Given the description of an element on the screen output the (x, y) to click on. 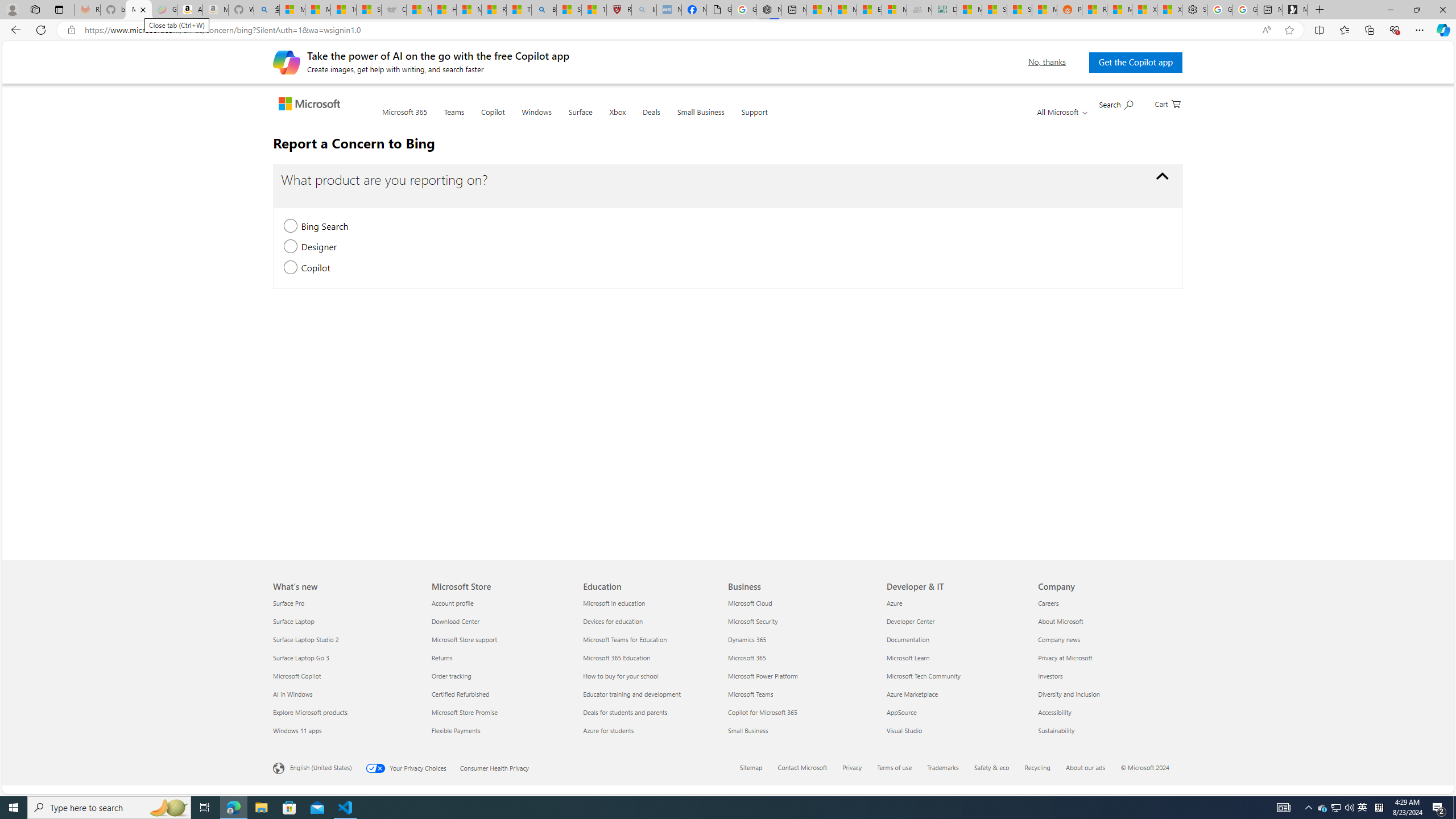
Microsoft Store support Microsoft Store (463, 638)
Terms of use (901, 768)
Windows 11 apps (345, 730)
Small Business (700, 118)
Company news Company (1059, 638)
Microsoft in education (651, 602)
Accessibility (1107, 711)
Microsoft Cloud (800, 602)
Microsoft Power Platform (800, 675)
Returns (499, 657)
Certified Refurbished (499, 693)
Small Business Business (748, 729)
